Given the description of an element on the screen output the (x, y) to click on. 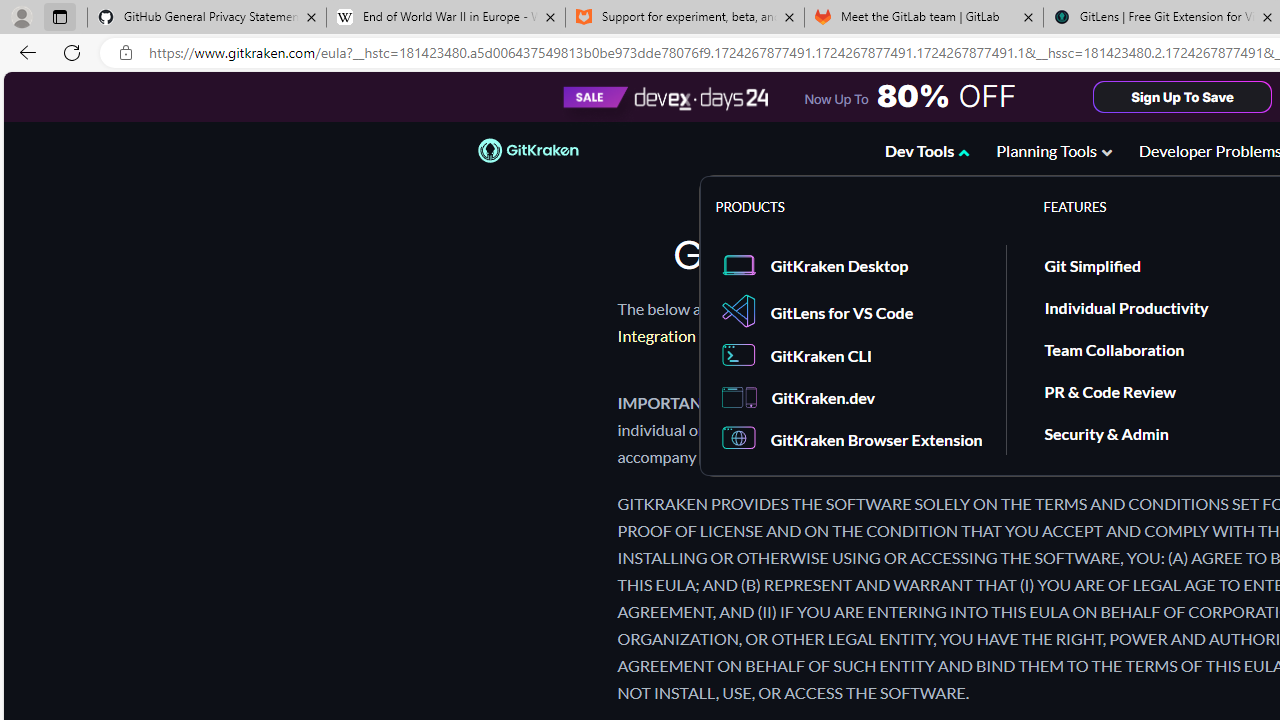
Team Collaboration (1114, 349)
PR & Code Review (1110, 390)
Git Simplified (1092, 264)
Sign Up To Save (1183, 96)
